Given the description of an element on the screen output the (x, y) to click on. 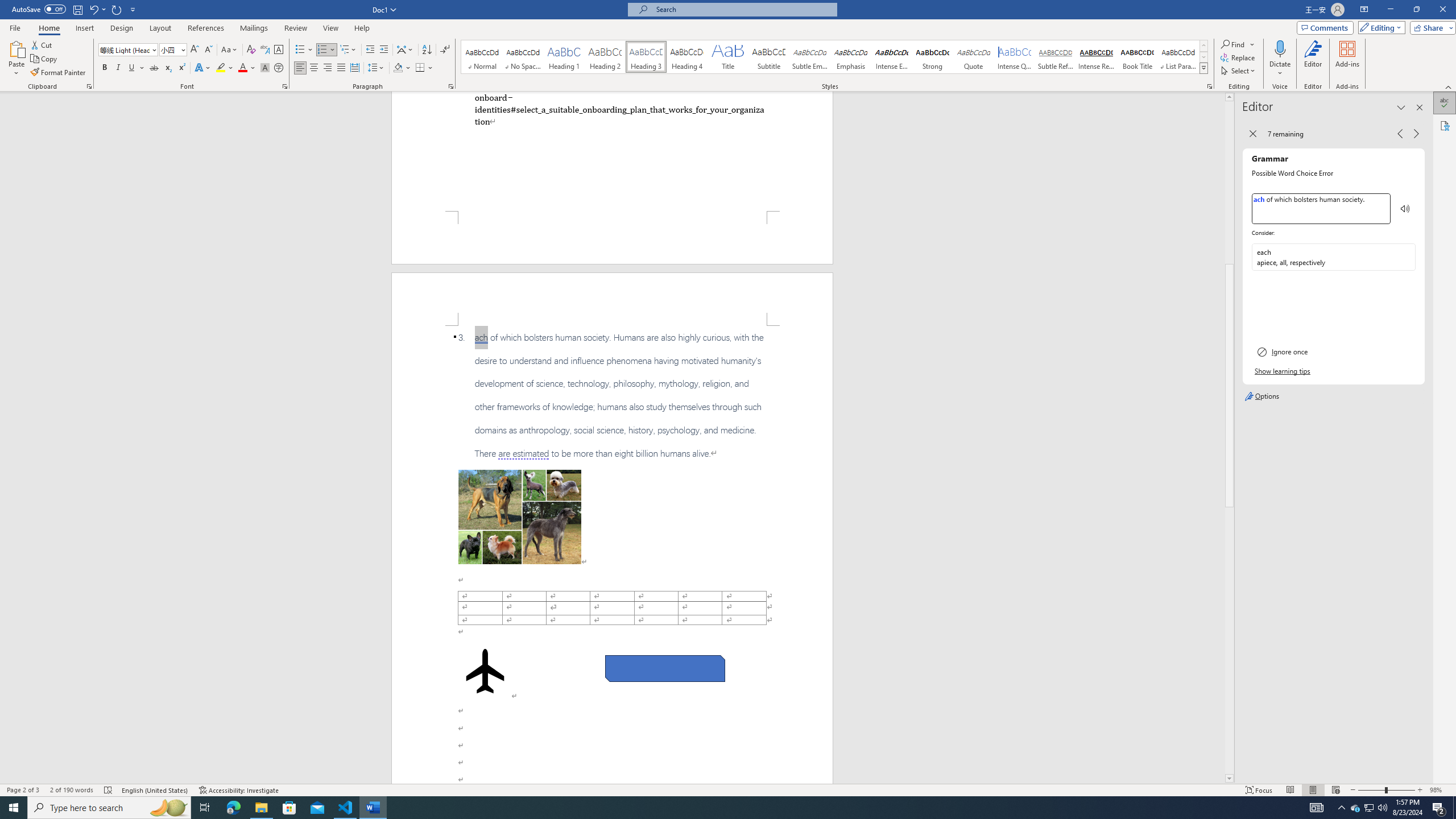
Page 1 content (611, 151)
Class: MsoCommandBar (728, 789)
Show learning tips (1283, 370)
Options (1334, 396)
Spelling and Grammar Check Errors (108, 790)
Shading RGB(0, 0, 0) (397, 67)
Distributed (354, 67)
Font... (285, 85)
Heading 2 (605, 56)
Character Border (278, 49)
Subtle Reference (1055, 56)
Ribbon Display Options (1364, 9)
Copy (45, 58)
